Given the description of an element on the screen output the (x, y) to click on. 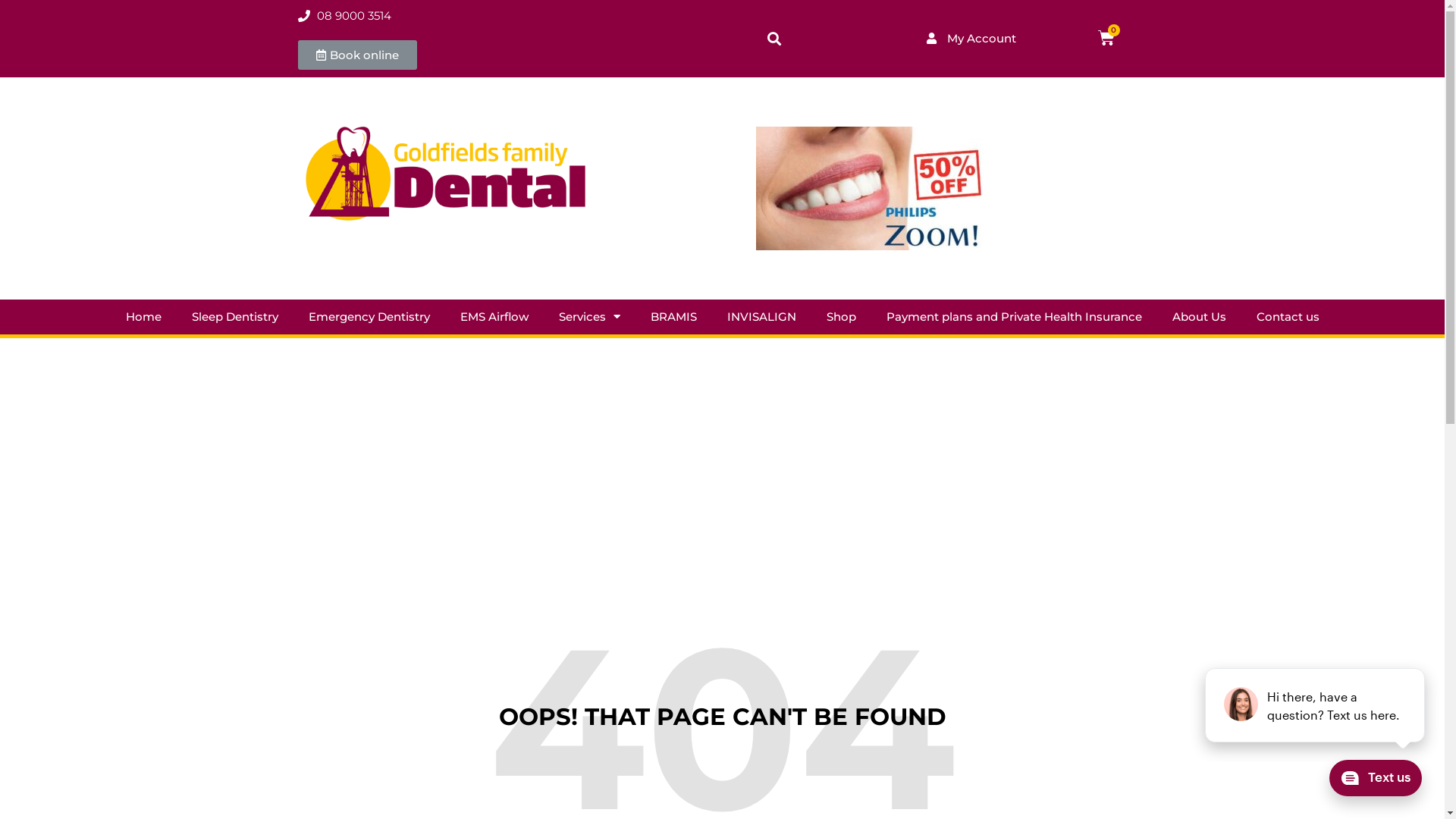
0 Element type: text (1105, 38)
INVISALIGN Element type: text (760, 315)
Sleep Dentistry Element type: text (233, 315)
podium webchat widget prompt Element type: hover (1315, 705)
EMS Airflow Element type: text (493, 315)
Book online Element type: text (356, 54)
About Us Element type: text (1199, 315)
Shop Element type: text (841, 315)
Home Element type: text (143, 315)
Services Element type: text (588, 315)
Payment plans and Private Health Insurance Element type: text (1013, 315)
My Account Element type: text (971, 38)
BRAMIS Element type: text (673, 315)
Contact us Element type: text (1286, 315)
Emergency Dentistry Element type: text (368, 315)
08 9000 3514 Element type: text (343, 16)
